Given the description of an element on the screen output the (x, y) to click on. 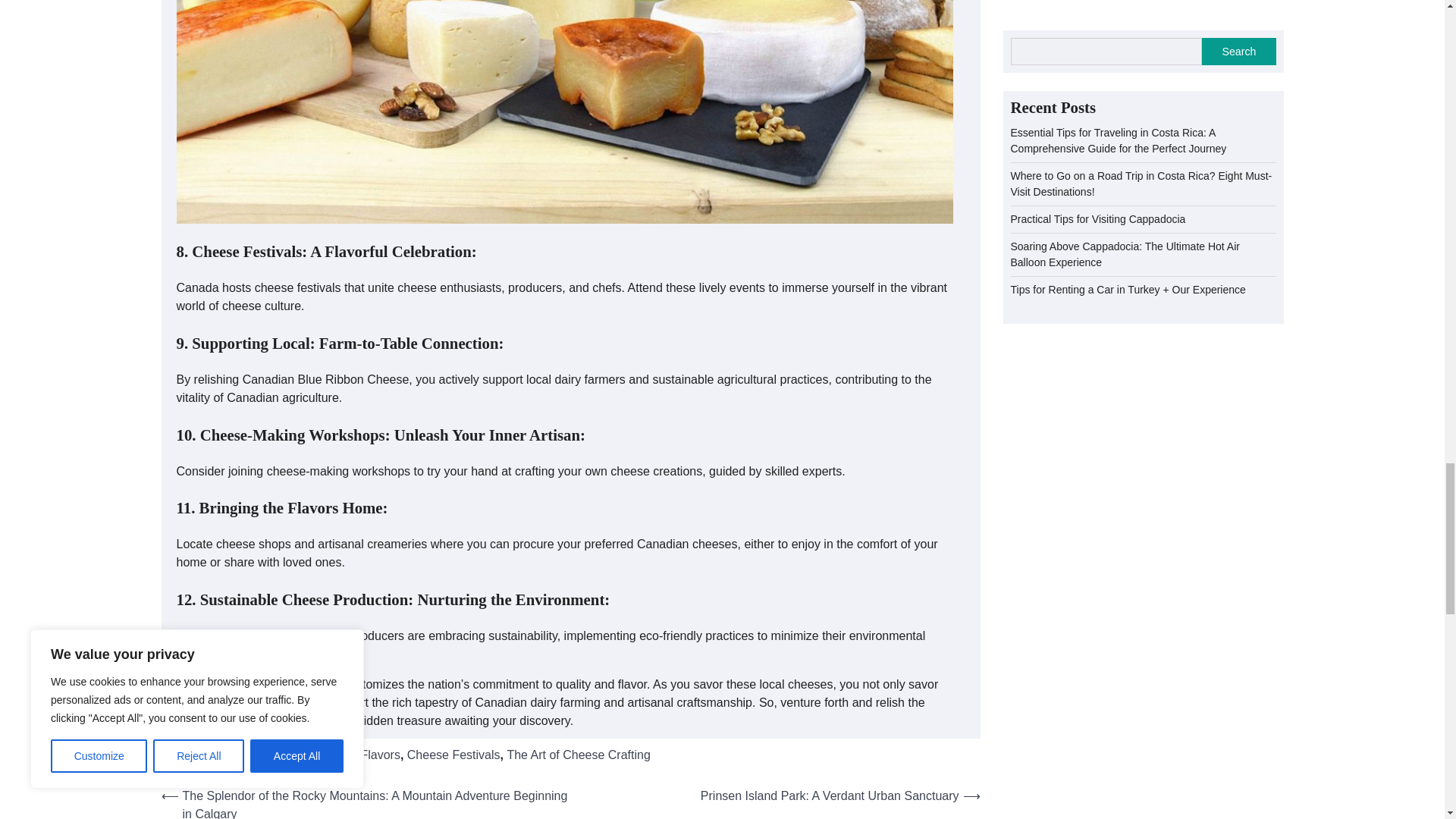
Cheese Festivals (453, 754)
A Palette of Flavors (347, 754)
The Art of Cheese Crafting (577, 754)
A Dairy Legacy (247, 754)
